Given the description of an element on the screen output the (x, y) to click on. 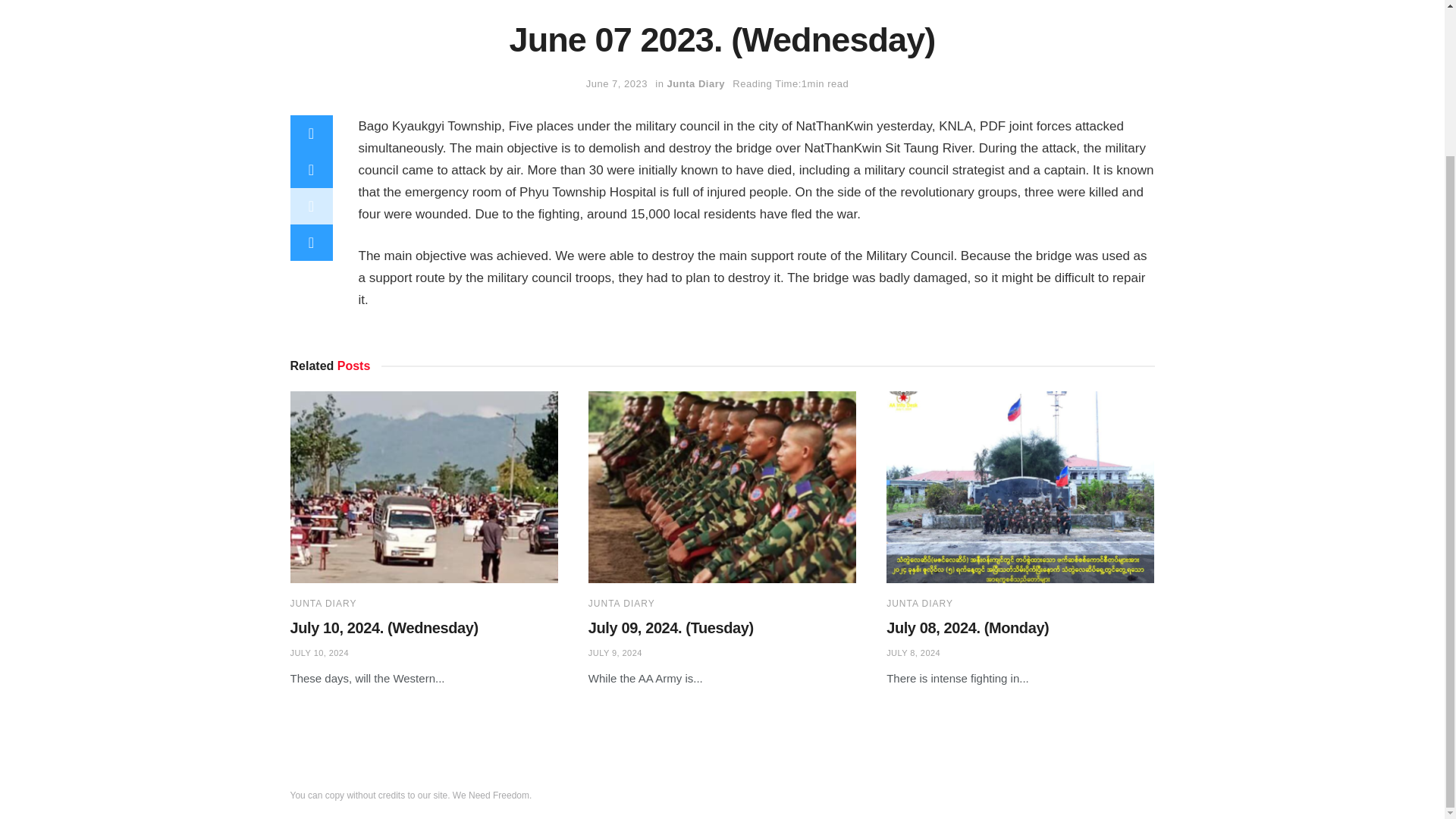
June 7, 2023 (616, 83)
JUNTA DIARY (322, 603)
Junta Diary (695, 83)
